Given the description of an element on the screen output the (x, y) to click on. 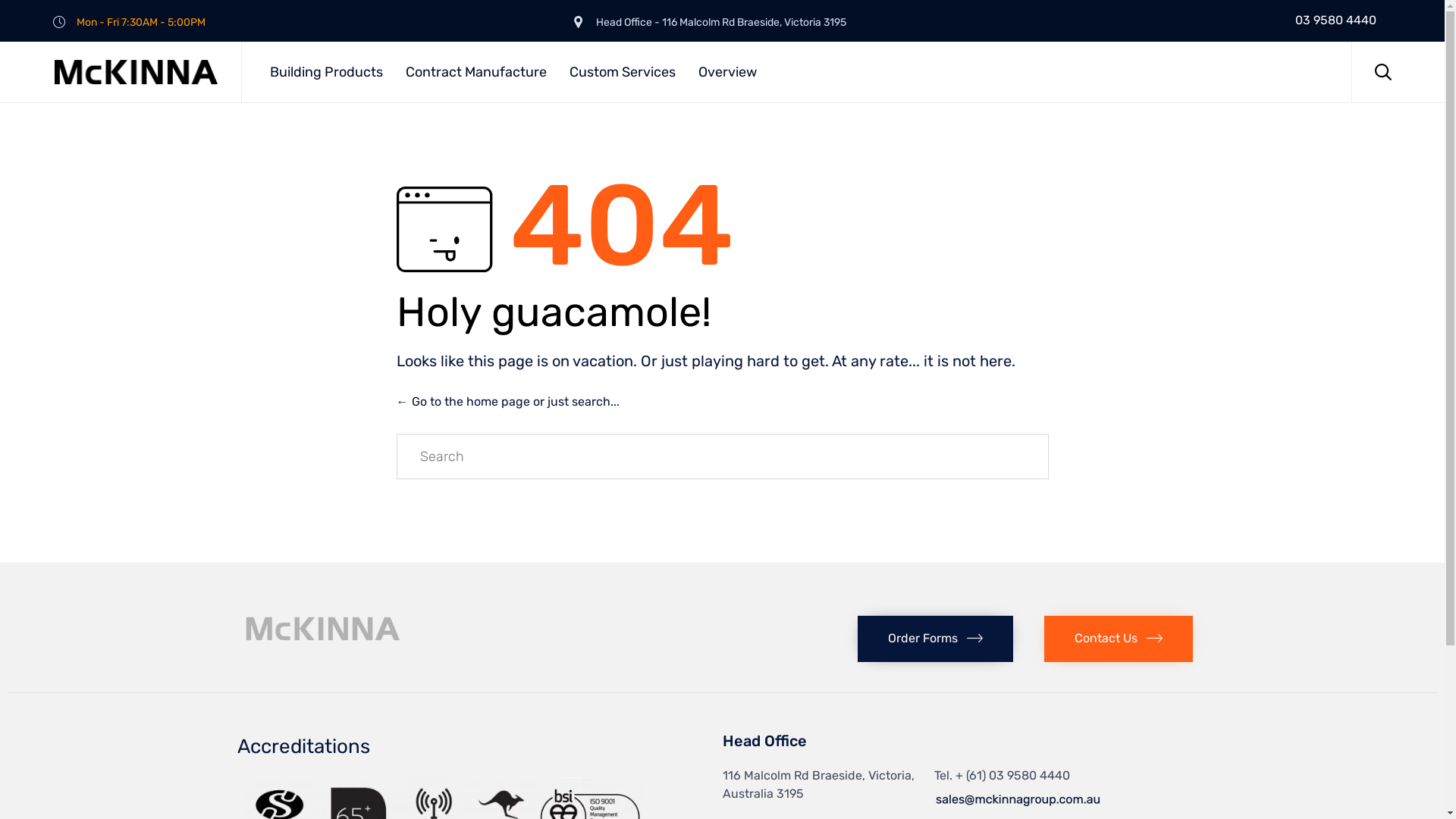
Custom Services Element type: text (624, 71)
McKinna Group Element type: hover (135, 71)
Order Forms Element type: text (935, 638)
Contact Us Element type: text (1118, 638)
Overview Element type: text (729, 71)
Building Products Element type: text (328, 71)
Skip to content Element type: text (1350, 40)
Contract Manufacture Element type: text (478, 71)
Search Element type: text (997, 456)
